Given the description of an element on the screen output the (x, y) to click on. 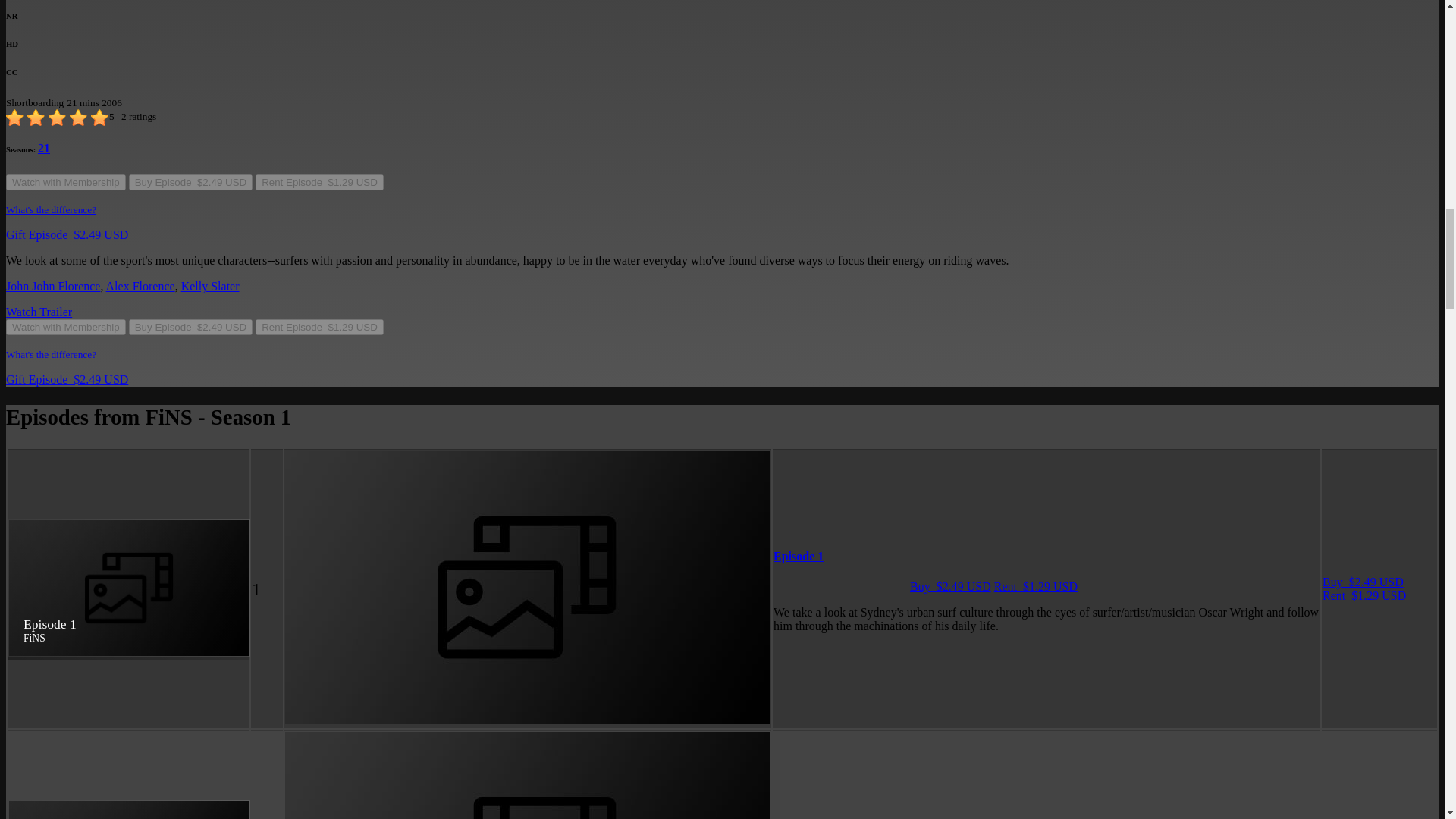
loved it (99, 117)
didn't like it (36, 117)
liked it (57, 117)
really like it (78, 117)
hated it (14, 117)
Episode  1 (798, 555)
Watch with Membership (65, 182)
